Given the description of an element on the screen output the (x, y) to click on. 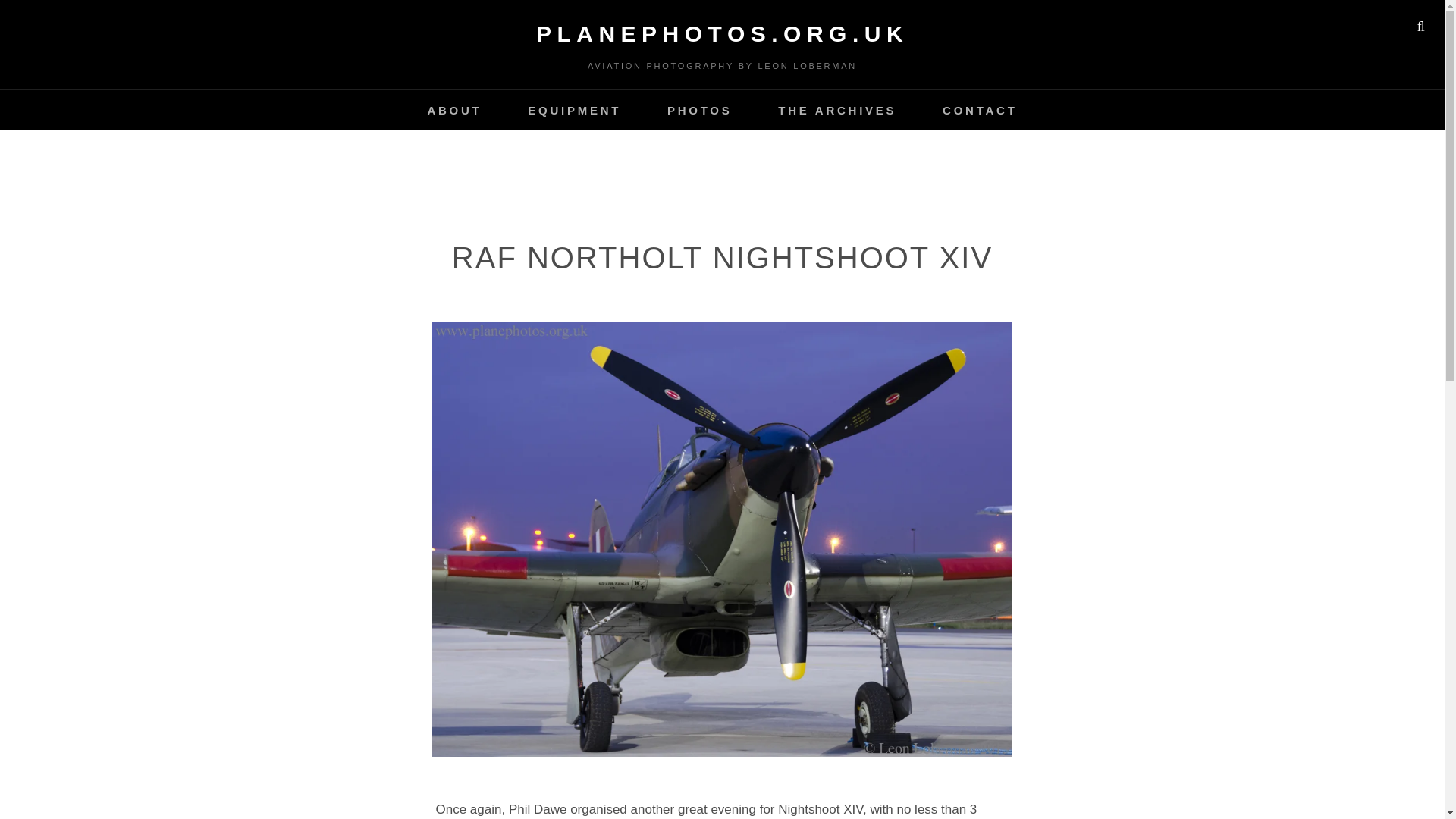
CONTACT (979, 110)
THE ARCHIVES (837, 110)
PHOTOS (700, 110)
EQUIPMENT (574, 110)
ABOUT (454, 110)
PLANEPHOTOS.ORG.UK (721, 33)
